Given the description of an element on the screen output the (x, y) to click on. 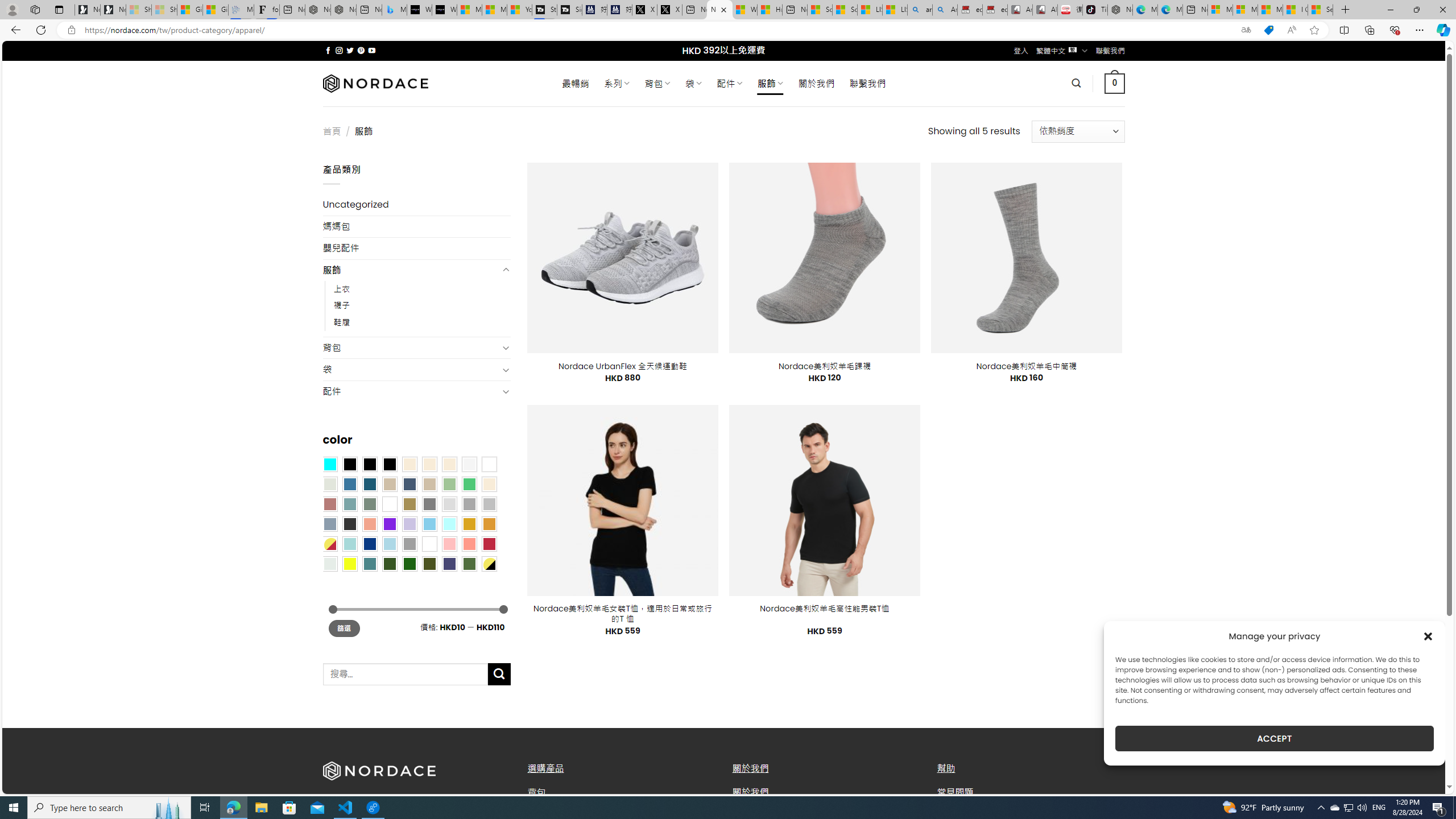
Follow on Pinterest (360, 50)
Uncategorized (416, 204)
Nordace - Best Sellers (1119, 9)
